Given the description of an element on the screen output the (x, y) to click on. 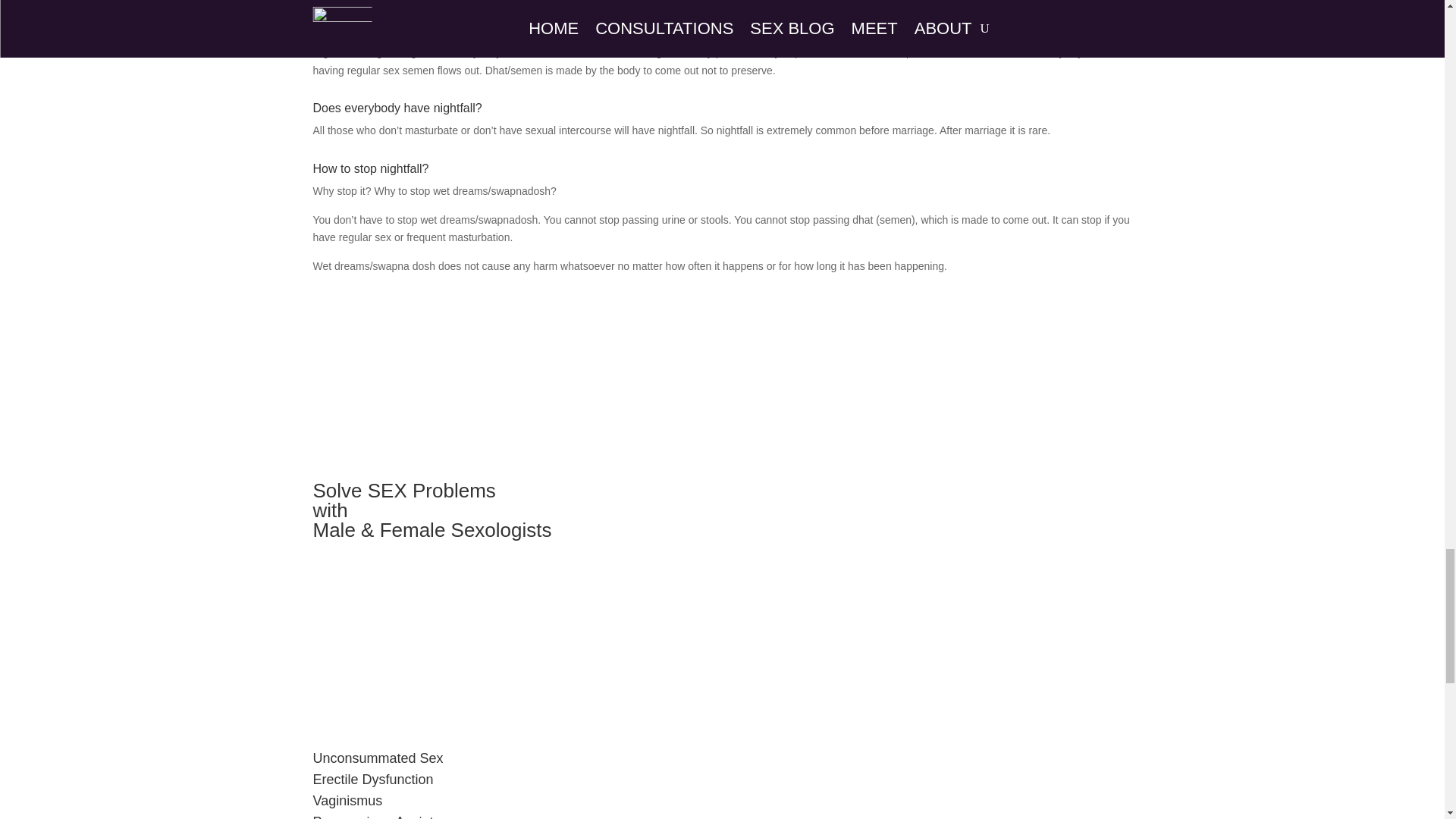
Unconsummated Sex (377, 758)
Pre-marriage Anxiety (376, 816)
Vaginismus (347, 800)
Erectile Dysfunction (372, 779)
